Given the description of an element on the screen output the (x, y) to click on. 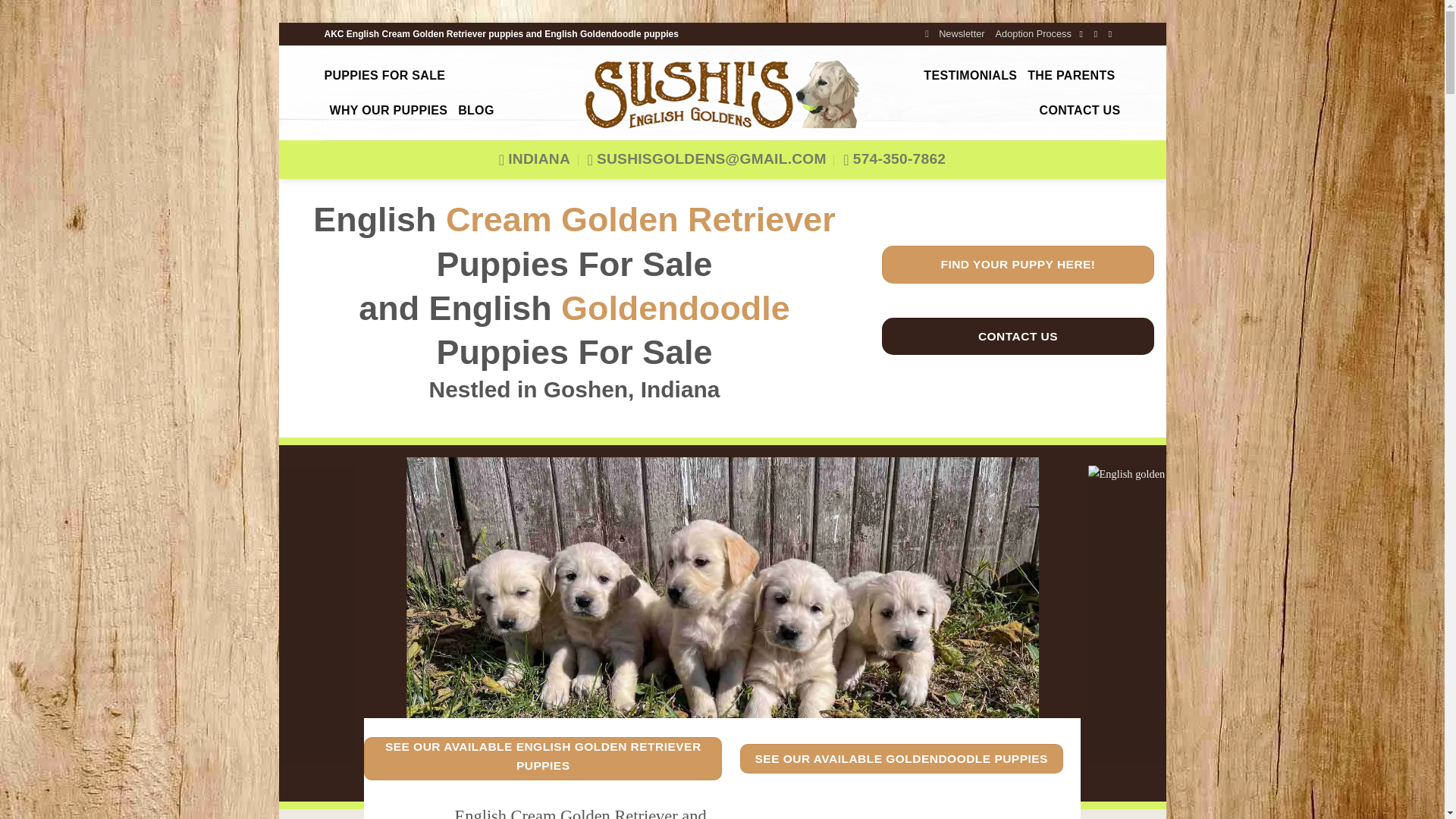
SEE OUR AVAILABLE ENGLISH GOLDEN RETRIEVER PUPPIES (543, 758)
WHY OUR PUPPIES (387, 110)
INDIANA (534, 159)
PUPPIES FOR SALE (384, 75)
BLOG (476, 110)
Indiana (534, 159)
